Given the description of an element on the screen output the (x, y) to click on. 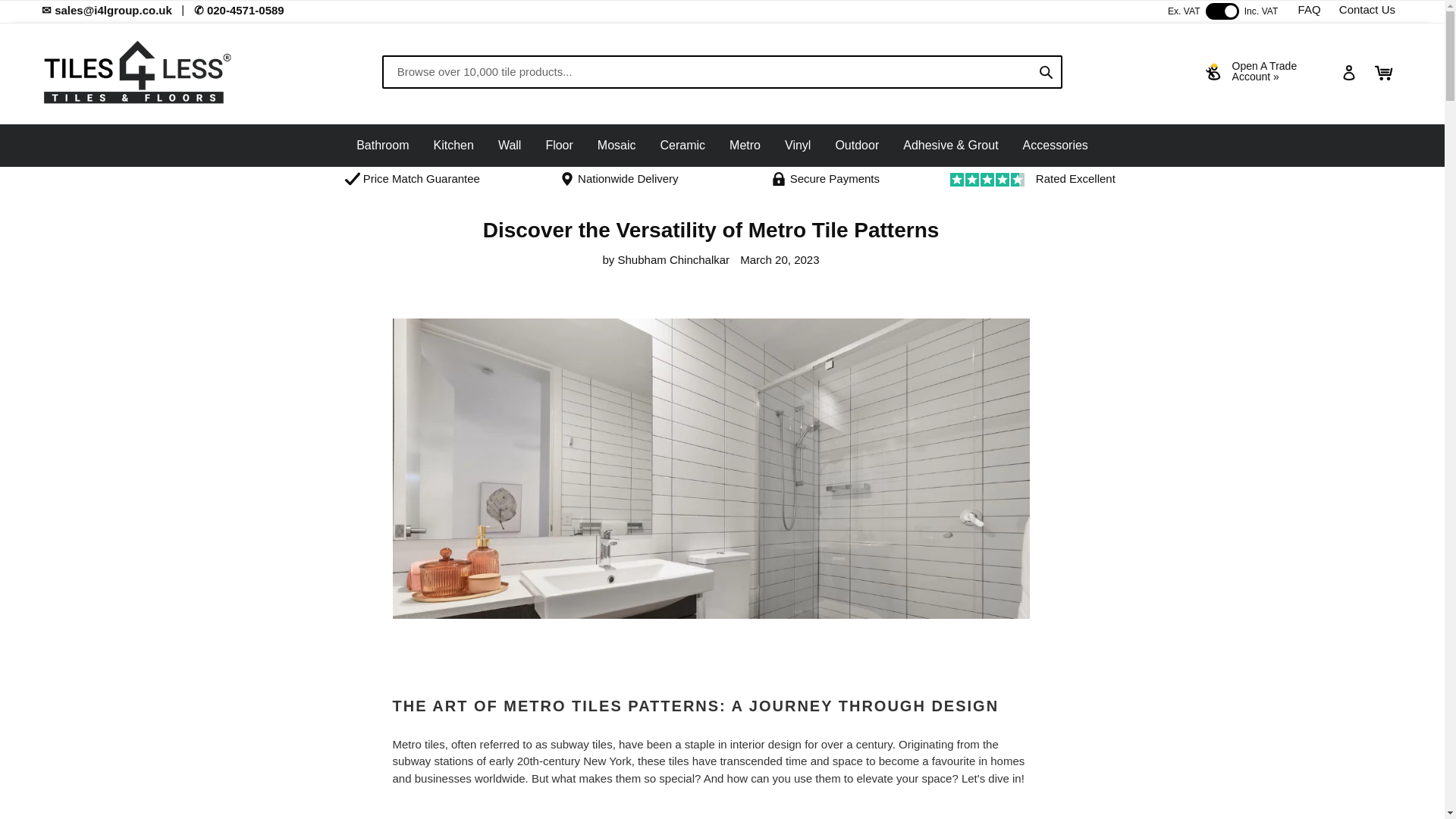
Submit (1045, 71)
Bathroom (381, 144)
Contact Us (1367, 9)
on (1222, 11)
Cart (1384, 72)
Chat (1356, 783)
Log in (1349, 72)
FAQ (1308, 9)
Bathroom (381, 145)
